Given the description of an element on the screen output the (x, y) to click on. 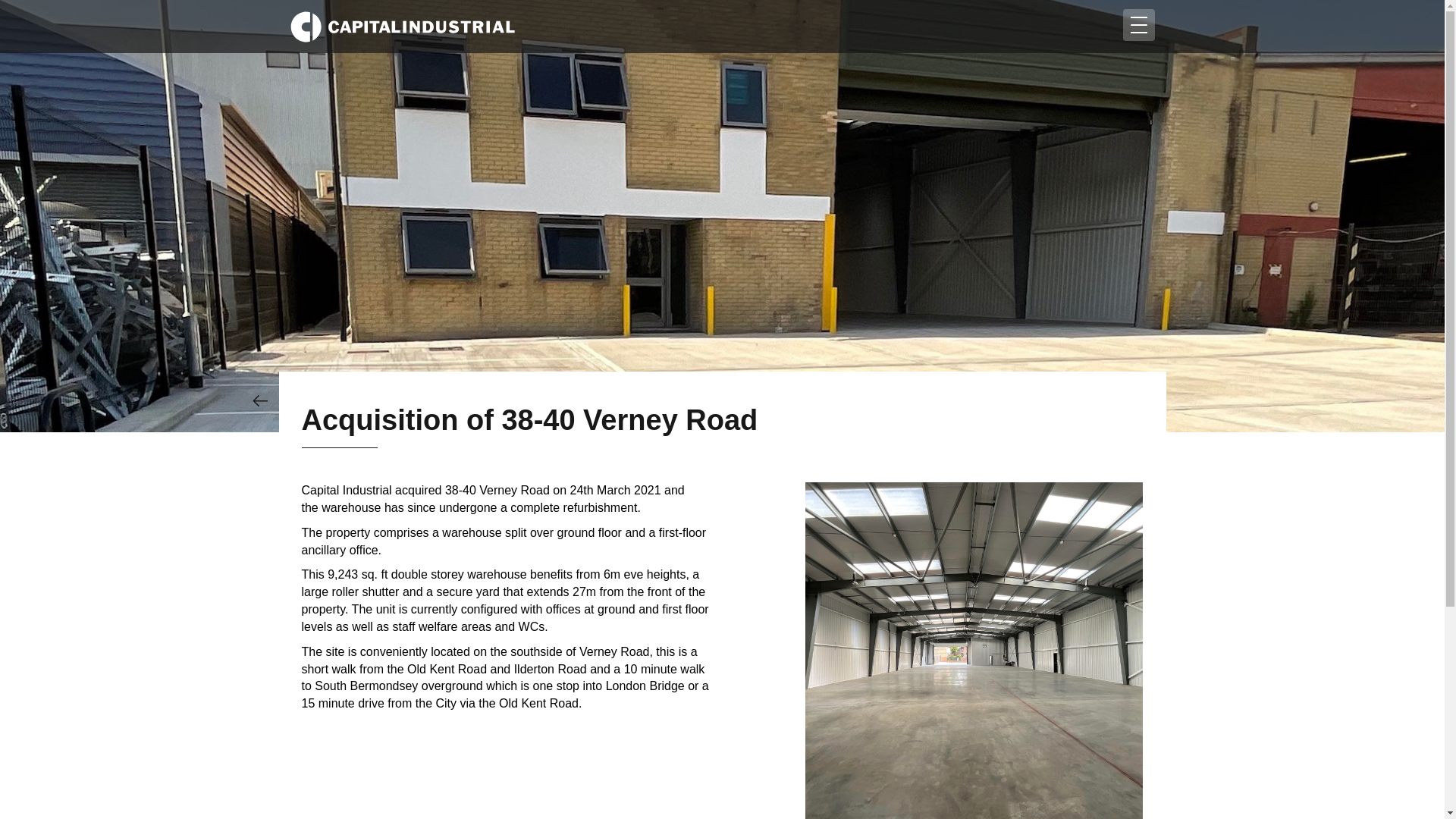
Back to News (258, 399)
Capital Industrial (401, 27)
Toggle navigation (1138, 24)
